Given the description of an element on the screen output the (x, y) to click on. 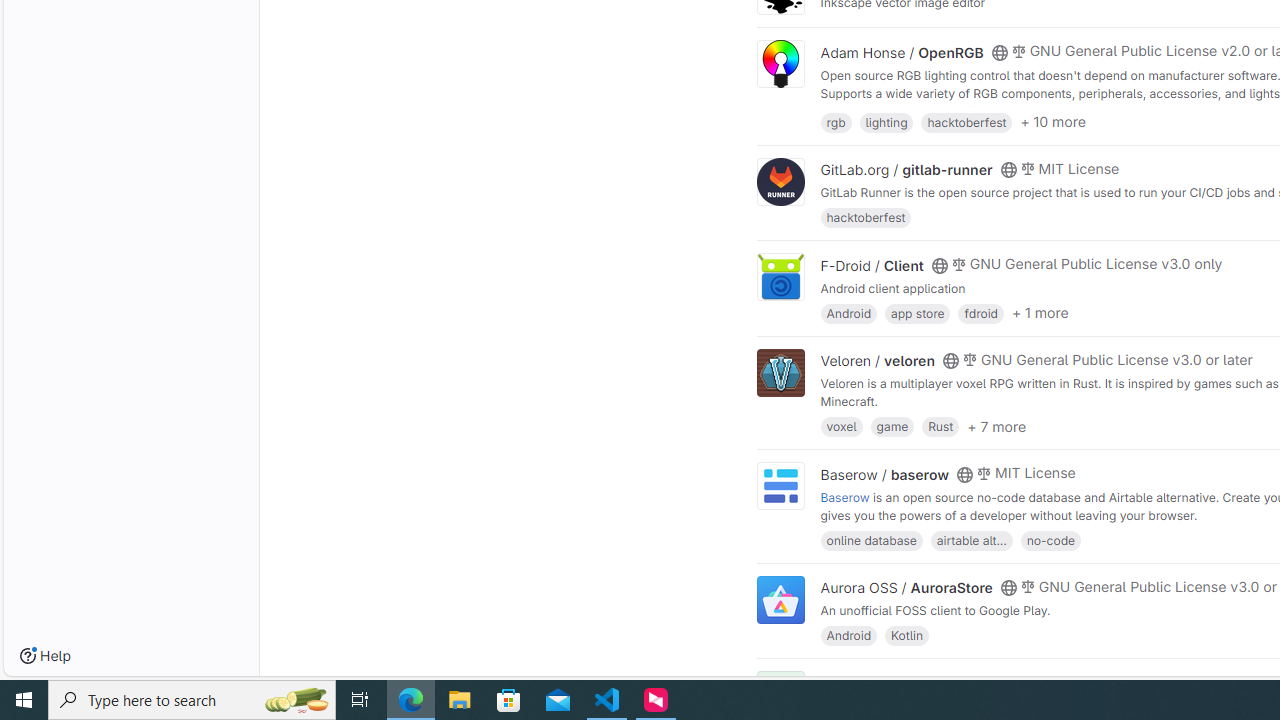
F (780, 695)
Class: project (780, 599)
online database (871, 539)
voxel (841, 426)
Adam Honse / OpenRGB (902, 52)
Class: s14 gl-mr-2 (1018, 681)
Class: s16 (999, 683)
+ 1 more (1039, 313)
+ 10 more (1053, 121)
rgb (836, 120)
Edouard Klein / falsisign (902, 682)
Baserow / baserow (884, 474)
Kotlin (907, 634)
lighting (886, 120)
hacktoberfest (866, 217)
